Given the description of an element on the screen output the (x, y) to click on. 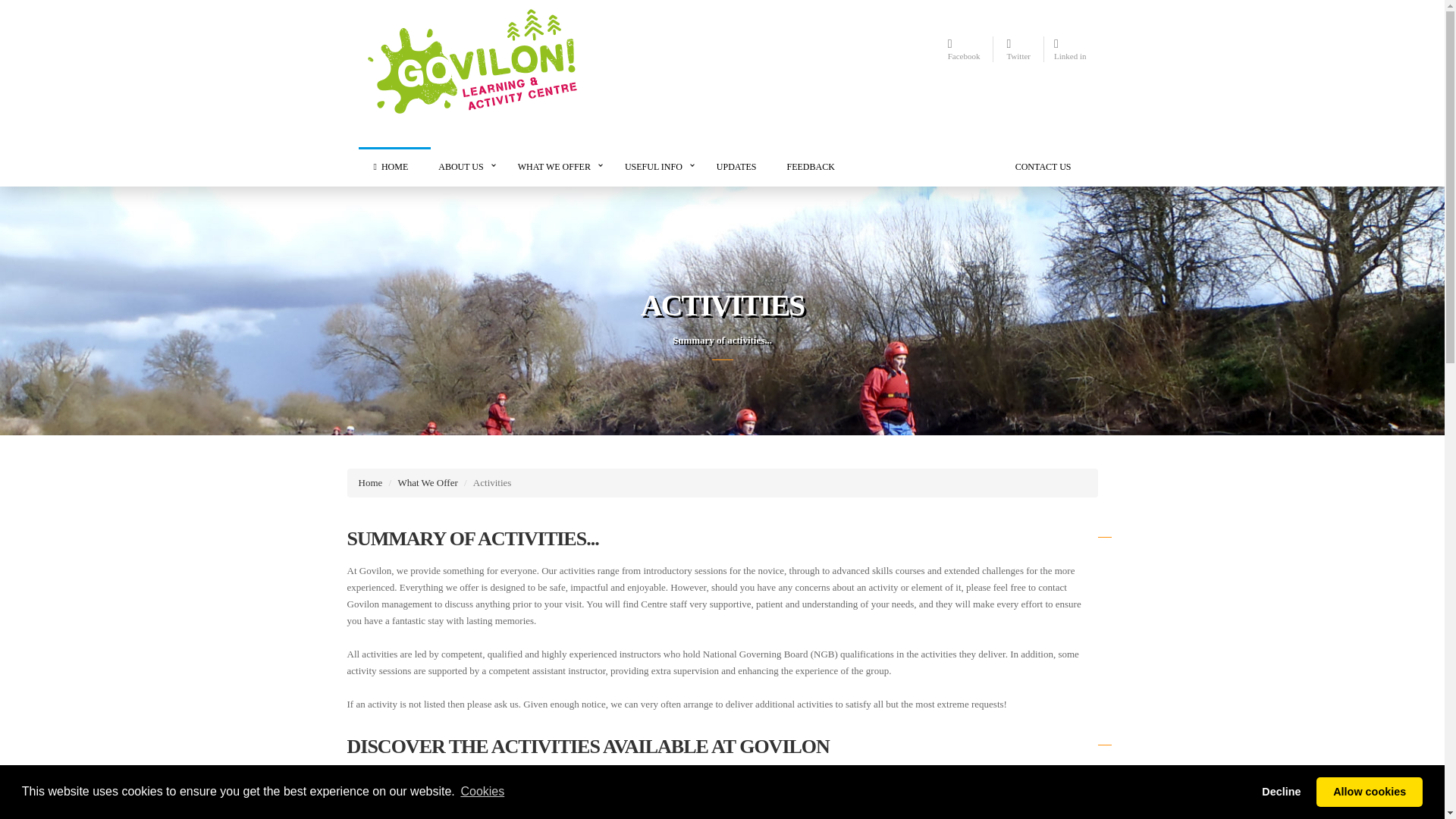
  HOME (390, 166)
Allow cookies (1369, 791)
Decline (1281, 791)
CONTACT US (1043, 166)
ABOUT US (462, 166)
Cookies (482, 791)
Linked in (1070, 48)
Twitter (1018, 48)
Facebook (963, 48)
What We Offer (427, 482)
WHAT WE OFFER (556, 166)
FEEDBACK (810, 166)
USEFUL INFO (655, 166)
Home (369, 482)
UPDATES (736, 166)
